Given the description of an element on the screen output the (x, y) to click on. 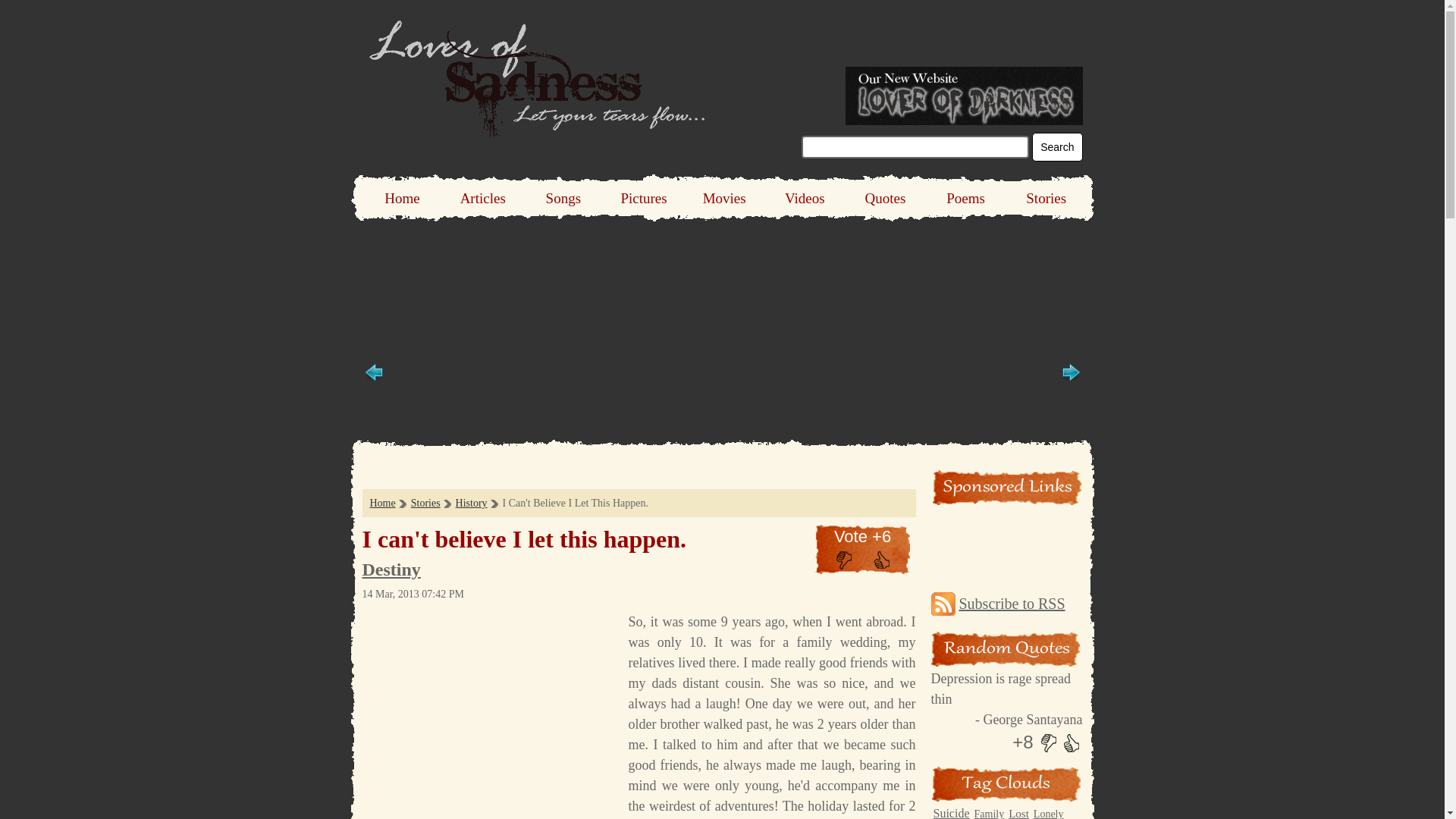
Songs (563, 198)
Advertisement (489, 715)
Poems (965, 198)
Advertisement (721, 264)
Advertisement (638, 475)
Home (402, 198)
Videos (804, 198)
History (471, 502)
Stories (425, 502)
Movies (724, 198)
Search (1056, 146)
Destiny (391, 569)
Search (1056, 146)
Articles (482, 198)
Pictures (644, 198)
